Given the description of an element on the screen output the (x, y) to click on. 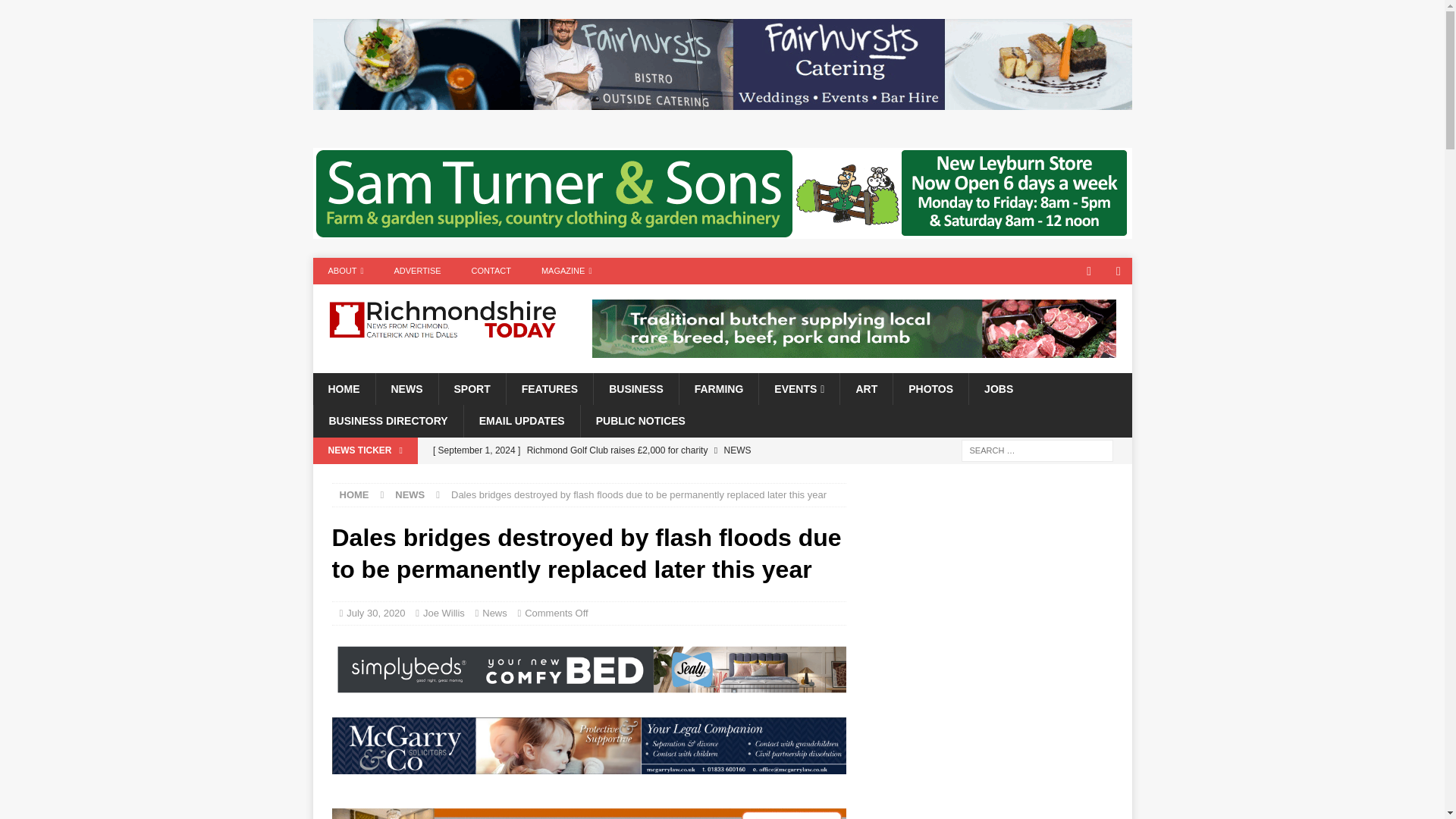
PUBLIC NOTICES (639, 420)
Search (56, 11)
FARMING (718, 388)
NEWS (406, 388)
PHOTOS (930, 388)
ADVERTISE (416, 270)
JOBS (997, 388)
BUSINESS (635, 388)
ABOUT (345, 270)
EMAIL UPDATES (521, 420)
